Given the description of an element on the screen output the (x, y) to click on. 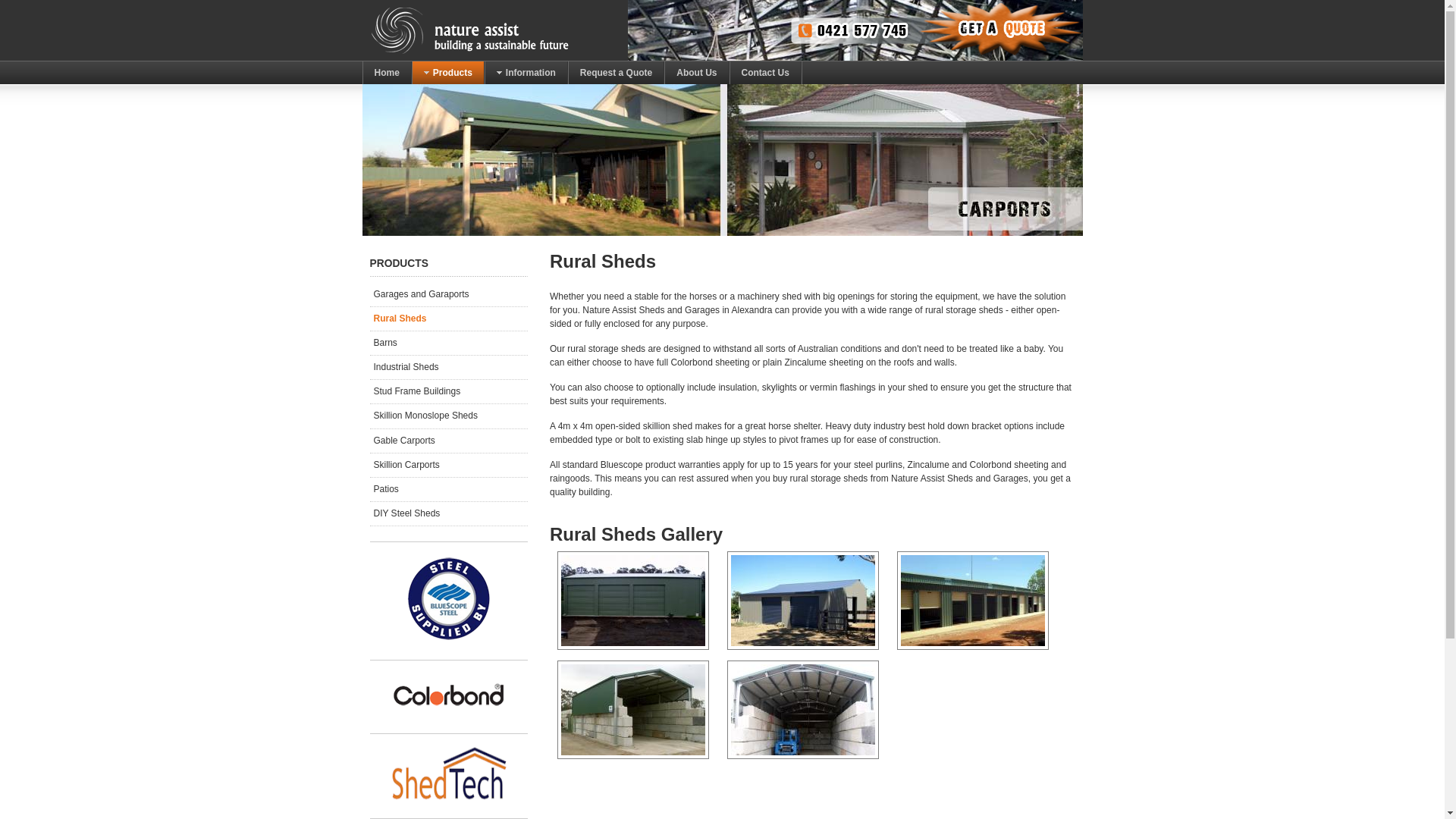
Gable Carports Element type: text (448, 440)
About Us Element type: text (696, 72)
Home Element type: text (386, 72)
Fill in your Bluescope Warranty Online Element type: hover (448, 598)
Information Element type: text (525, 72)
Barns Element type: text (448, 342)
ruralsheds1.jpg Element type: hover (633, 709)
Skillion Carports Element type: text (448, 464)
Patios Element type: text (448, 489)
ruralsheds2.jpg Element type: hover (802, 709)
Request a Quote Element type: text (615, 72)
ruralsheds5.jpg Element type: hover (802, 600)
Get a Quote Element type: hover (722, 86)
DIY Steel Sheds Element type: text (448, 513)
Stud Frame Buildings Element type: text (448, 391)
Garages and Garaports Element type: text (448, 294)
Products Element type: text (447, 72)
ruralsheds3.jpg Element type: hover (972, 600)
Industrial Sheds Element type: text (448, 367)
Contact Us Element type: text (765, 72)
Nature Assist Sheds and Garages Element type: hover (487, 29)
Skillion Monoslope Sheds Element type: text (448, 415)
Rural Sheds Element type: text (448, 318)
We use the industry leading ShedTech Software Element type: hover (447, 774)
ruralsheds4.jpg Element type: hover (633, 600)
